Given the description of an element on the screen output the (x, y) to click on. 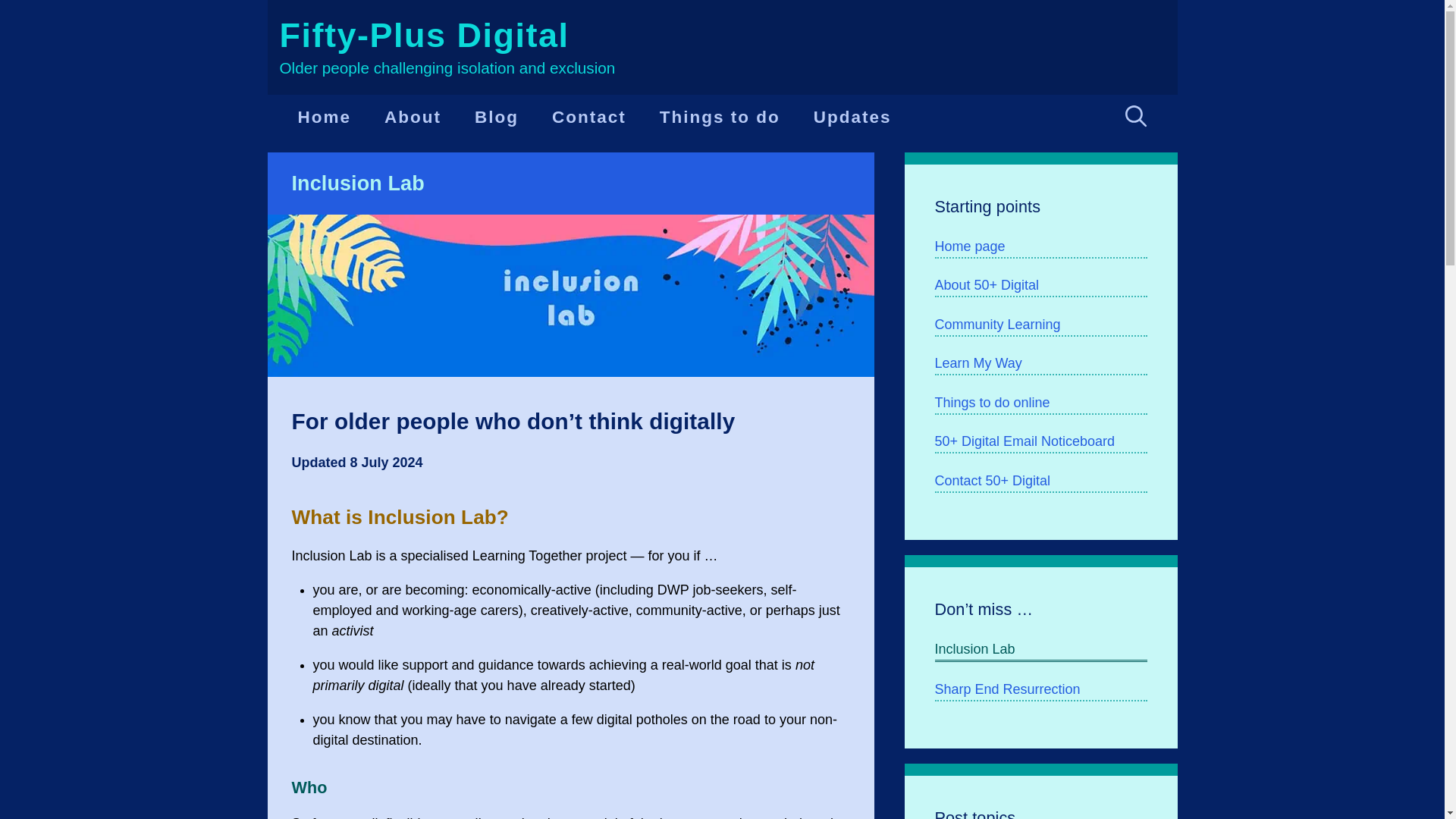
Fifty-Plus Digital (424, 34)
Inclusion Lab (1040, 650)
Home (324, 117)
Contact (589, 117)
Home page (1040, 247)
Things to do (719, 117)
Blog (497, 117)
About (413, 117)
Learn My Way (1040, 363)
Sharp End Resurrection (1040, 690)
Community Learning (1040, 325)
Updates (852, 117)
Things to do online (1040, 403)
